Given the description of an element on the screen output the (x, y) to click on. 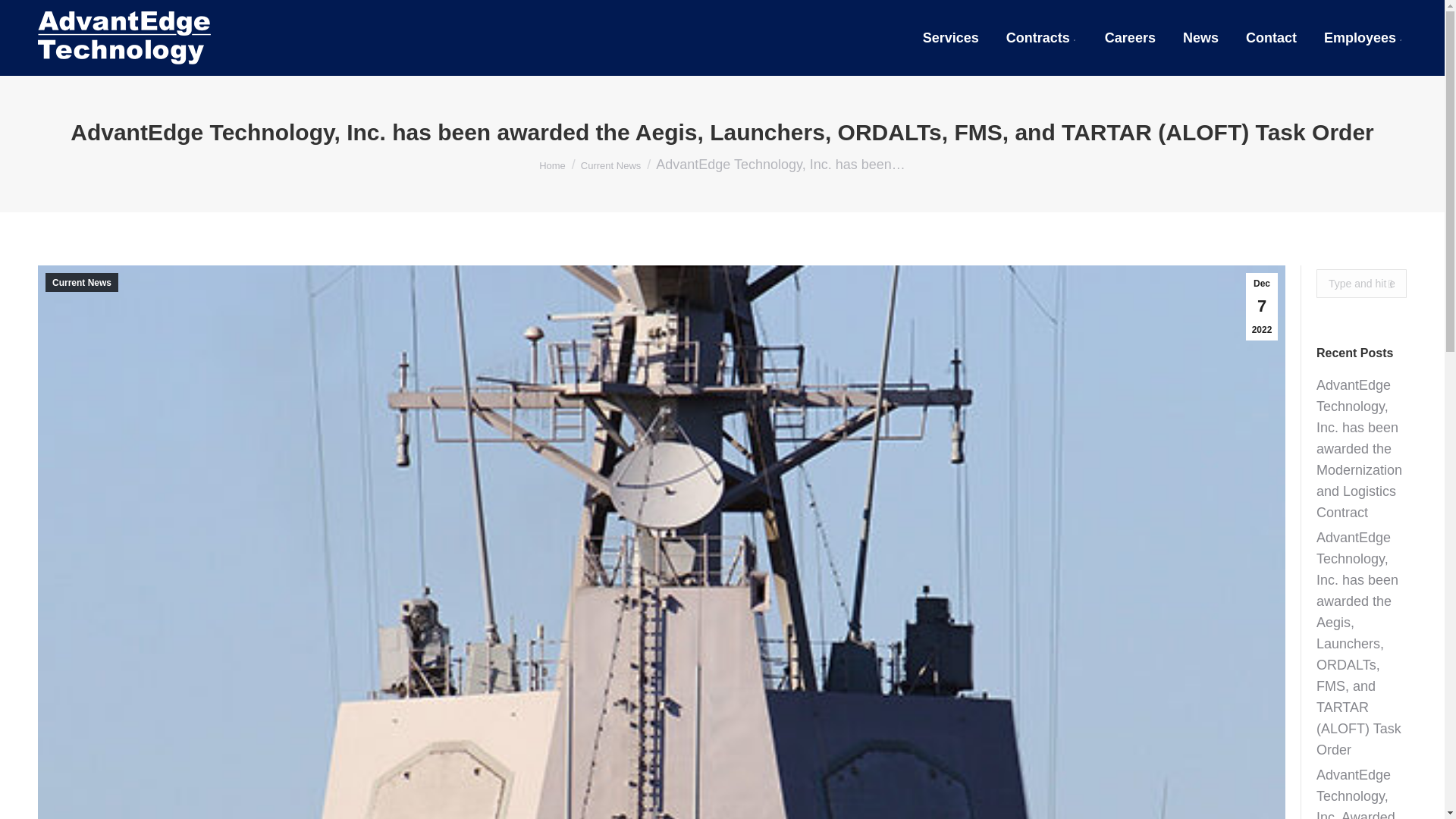
Current News (610, 164)
Careers (1130, 37)
Go! (1385, 283)
Home (552, 164)
Contact (1271, 37)
Contracts (1041, 37)
Services (950, 37)
Employees (1363, 37)
Current News (81, 281)
Go! (1385, 283)
